Given the description of an element on the screen output the (x, y) to click on. 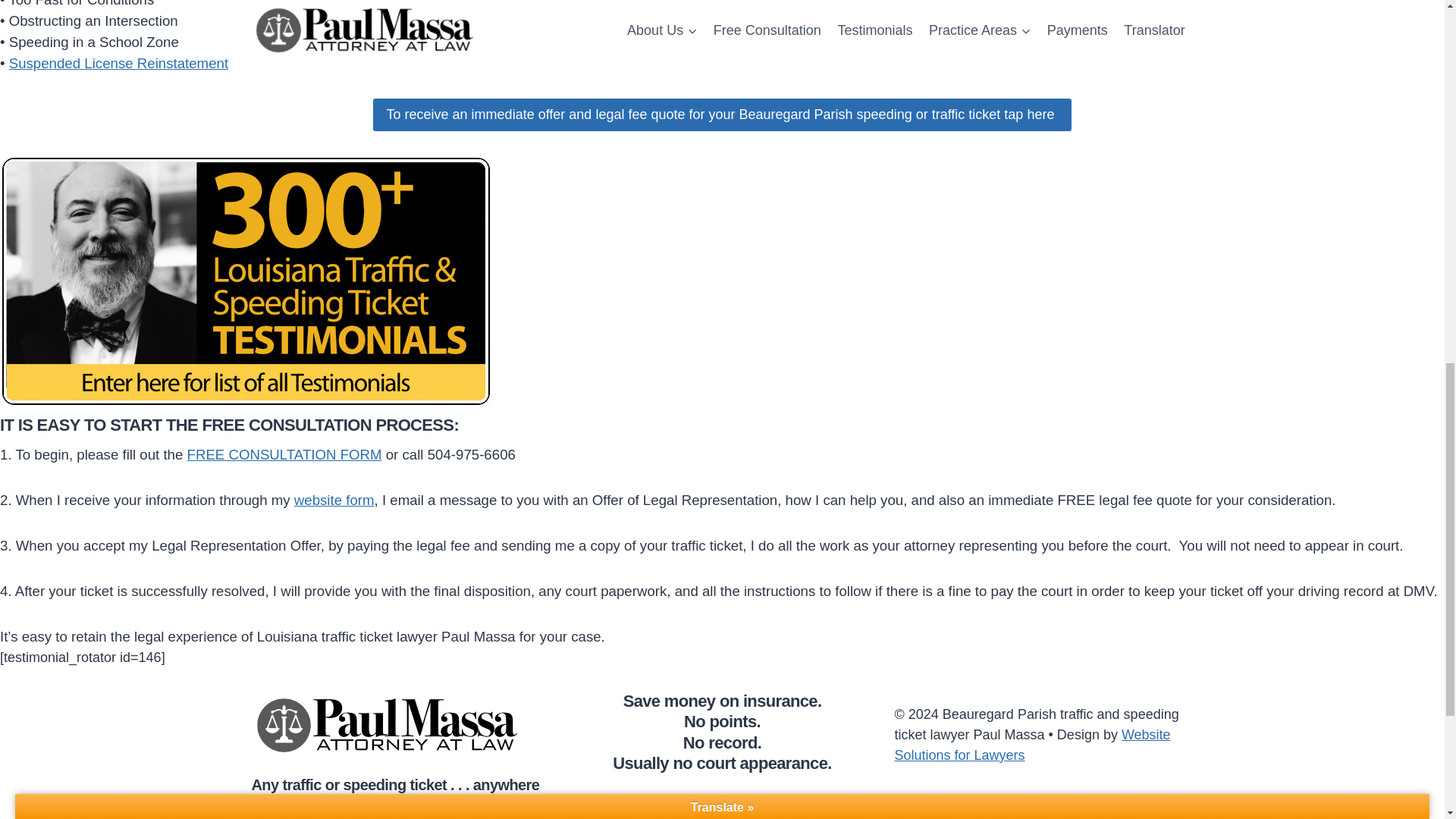
Suspended License Reinstatement (118, 63)
website form (334, 499)
FREE CONSULTATION FORM (284, 454)
FREE CONSULTATION (286, 424)
